Given the description of an element on the screen output the (x, y) to click on. 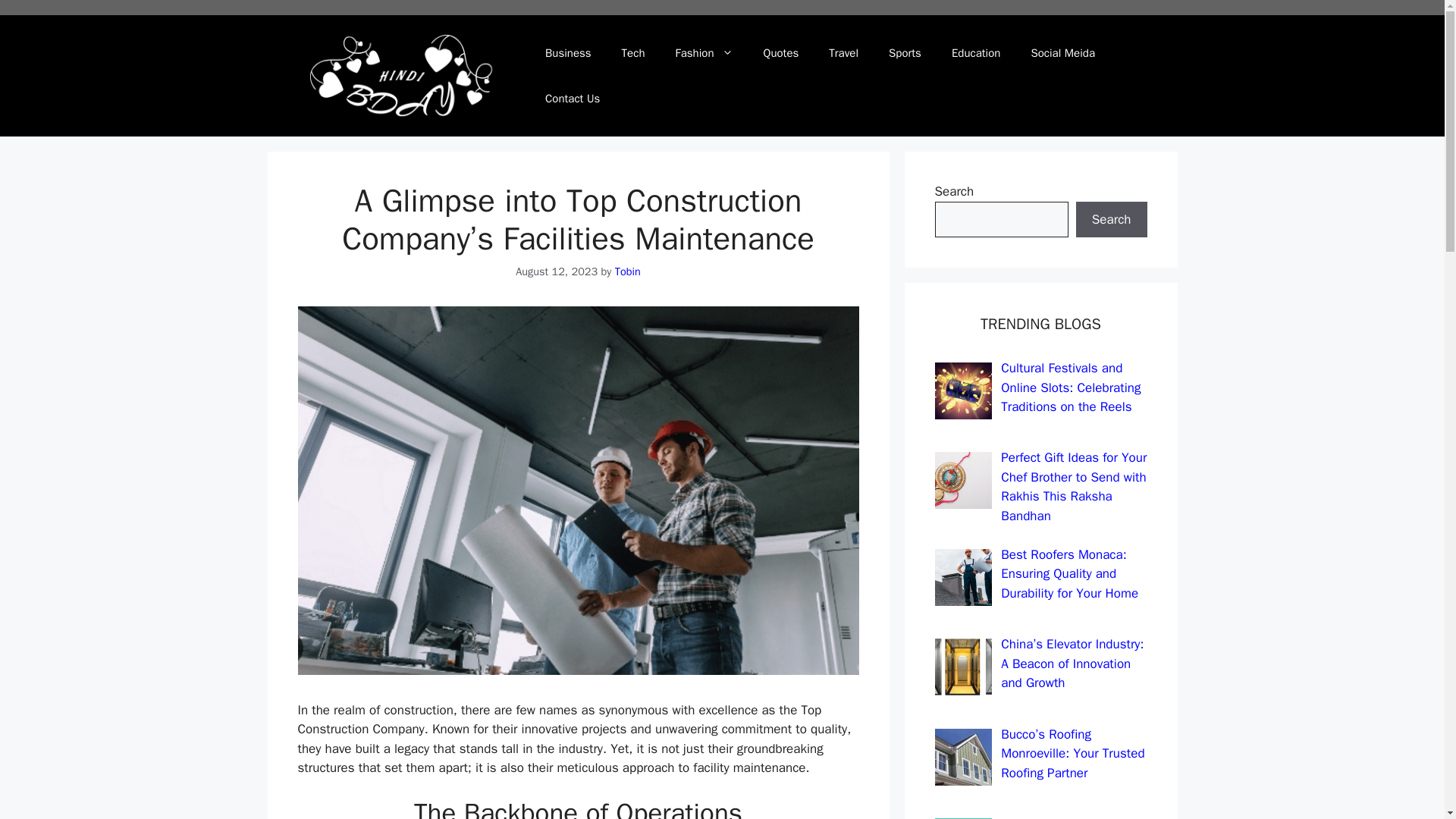
Fashion (703, 53)
Contact Us (571, 98)
Tobin (627, 271)
View all posts by Tobin (627, 271)
Tech (634, 53)
Education (976, 53)
Sports (904, 53)
Search (1111, 219)
Travel (843, 53)
Social Meida (1061, 53)
Business (568, 53)
Quotes (780, 53)
